Given the description of an element on the screen output the (x, y) to click on. 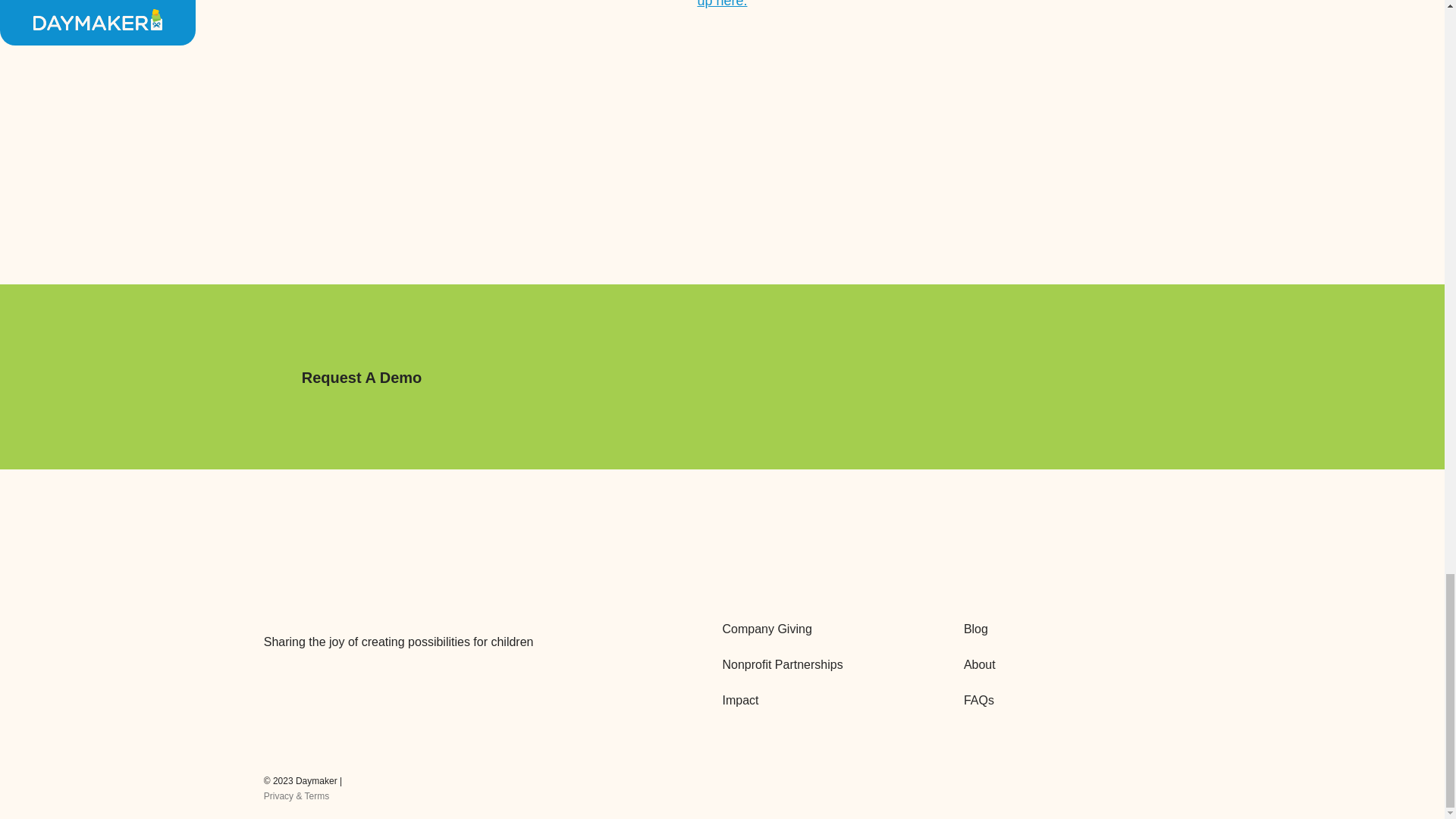
About (1071, 664)
Blog (1071, 629)
FAQs (1071, 700)
Nonprofit Partnerships (830, 664)
Stay connected by signing up here. (722, 5)
Impact (830, 700)
Company Giving (830, 629)
Request A Demo (361, 377)
